Given the description of an element on the screen output the (x, y) to click on. 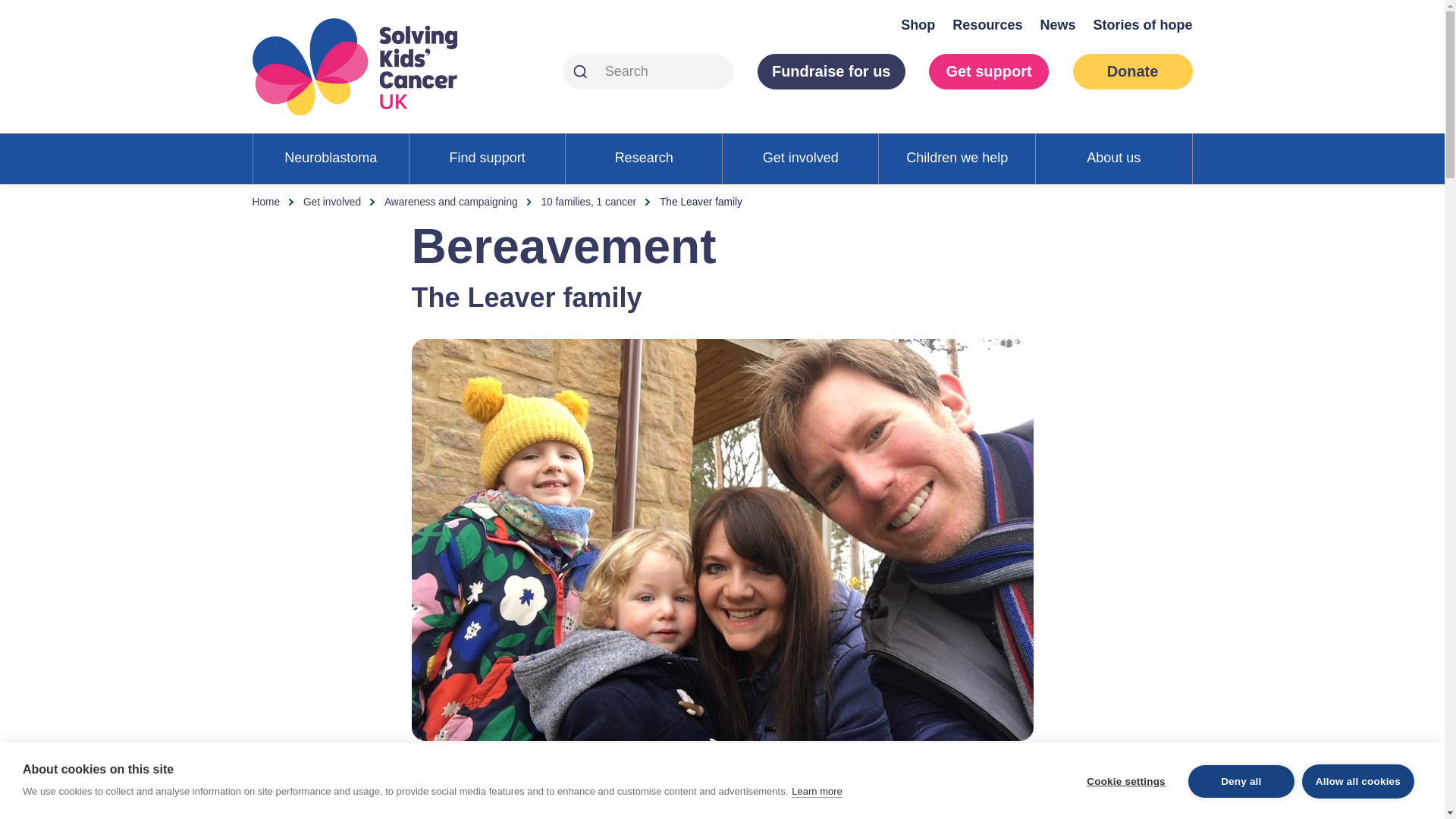
News (1057, 24)
Awareness and campaigning (451, 202)
Search (579, 71)
Shop (917, 24)
Resources (987, 24)
Stories of hope (1142, 24)
Get involved (331, 202)
Find support (487, 158)
Research (644, 158)
Home (265, 202)
10 families, 1 cancer (588, 202)
Fundraise for us (831, 71)
Get support (988, 71)
Donate (1131, 71)
Neuroblastoma (331, 158)
